Given the description of an element on the screen output the (x, y) to click on. 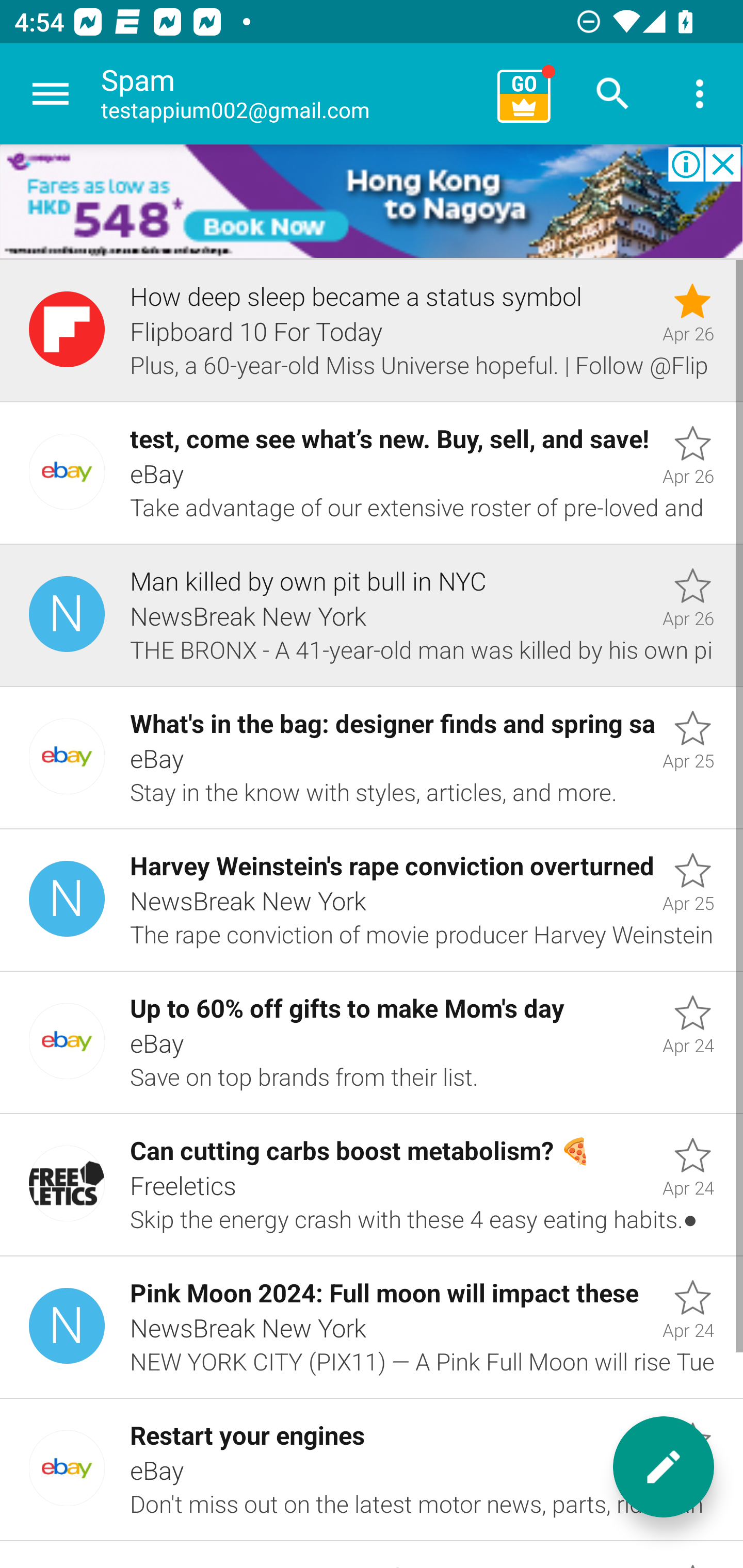
Navigate up (50, 93)
Spam testappium002@gmail.com (291, 93)
Search (612, 93)
More options (699, 93)
Advertisement (371, 202)
New message (663, 1466)
